Given the description of an element on the screen output the (x, y) to click on. 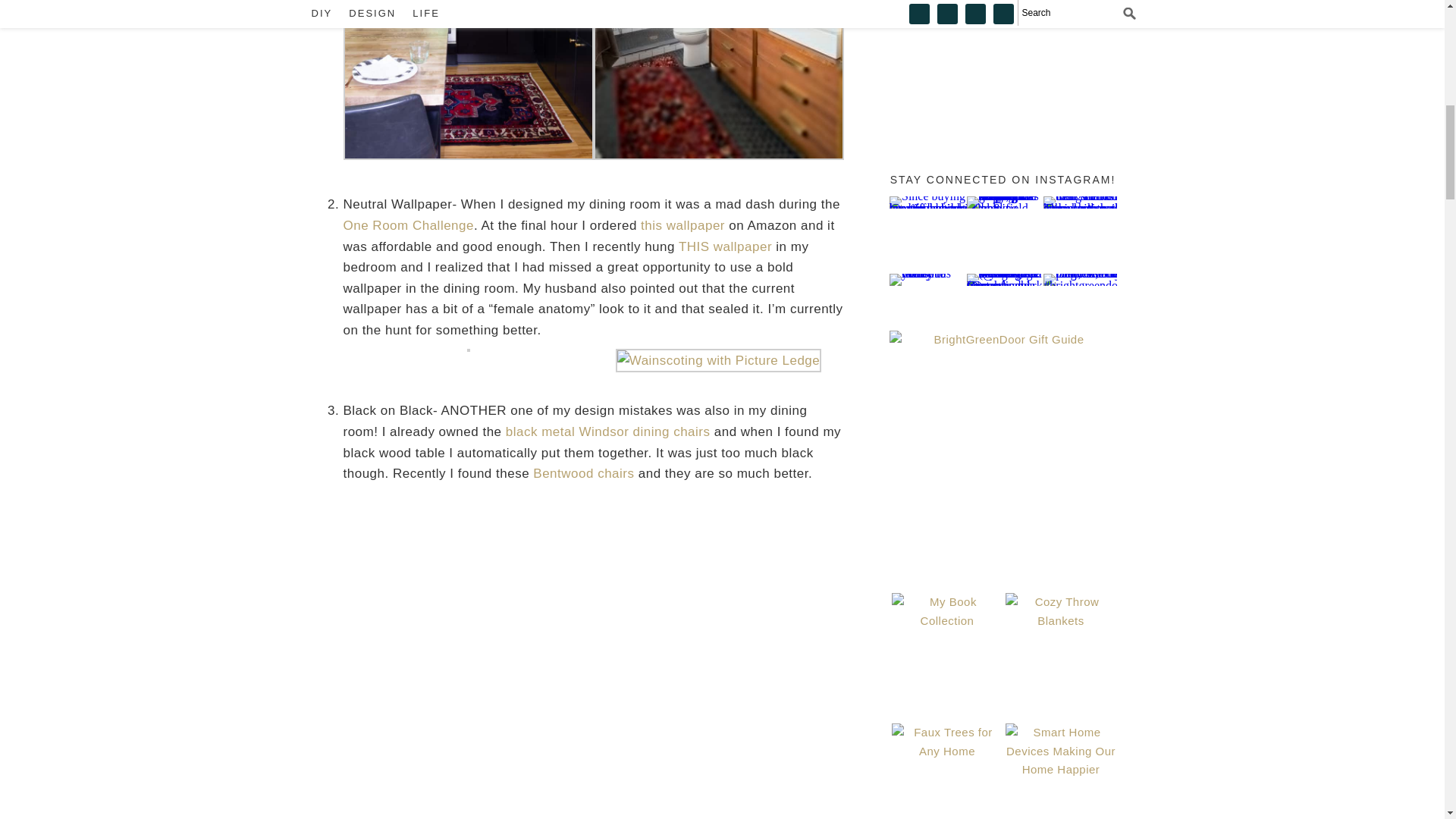
Smart Home Devices Making our Home Happier! (1061, 771)
THIS wallpaper (724, 246)
Bentwood chairs (582, 473)
My Favorite Cozy Throw Blankets (1061, 648)
My Book Collection- Books I Keep and How I Store Them (947, 648)
My Favorite Faux Trees for Every Home (947, 771)
black metal Windsor dining chairs (607, 431)
this wallpaper (682, 225)
One Room Challenge (407, 225)
Bright Green Door Gift Guide (1002, 444)
